Given the description of an element on the screen output the (x, y) to click on. 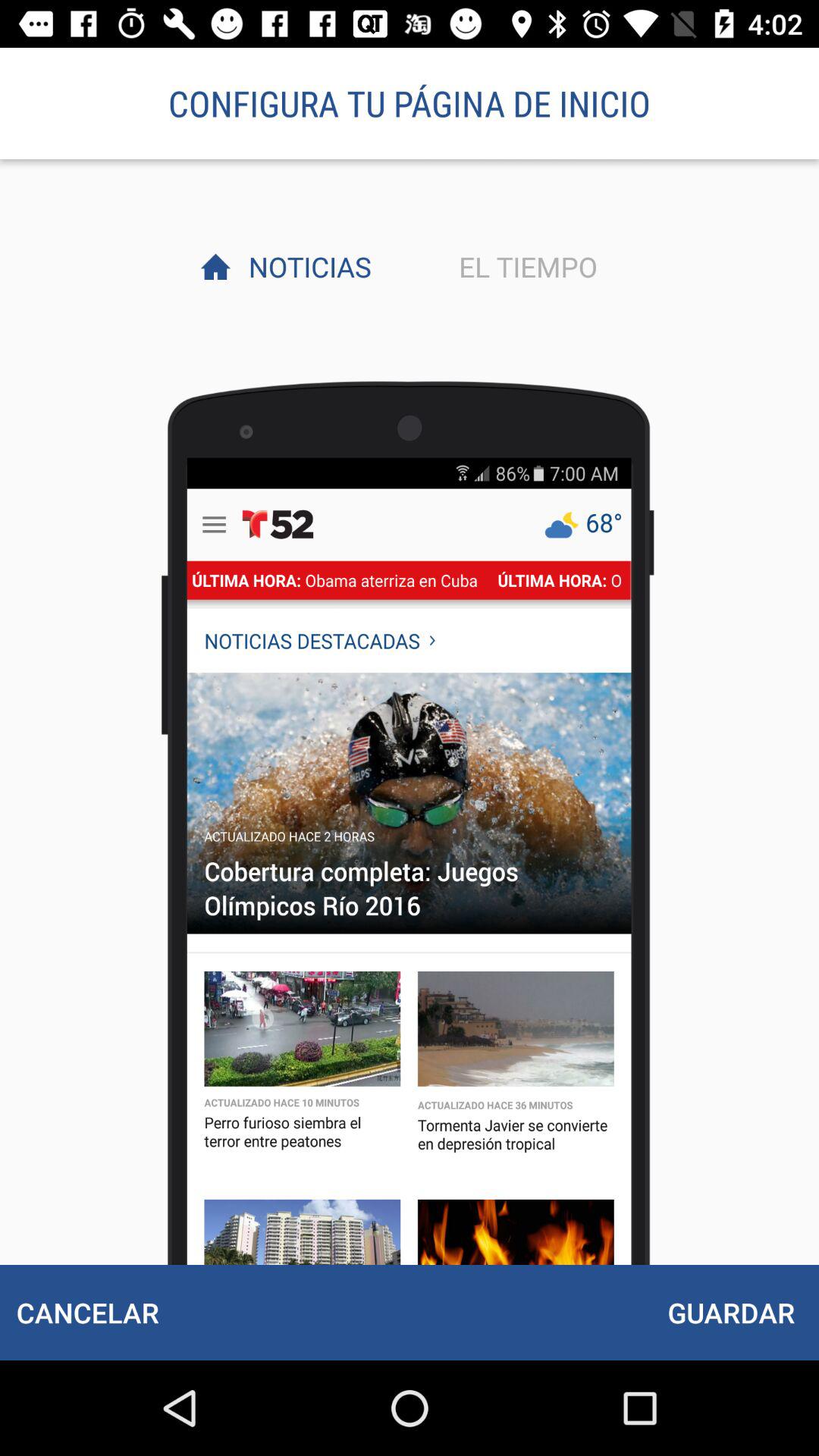
click the el tiempo (524, 266)
